Given the description of an element on the screen output the (x, y) to click on. 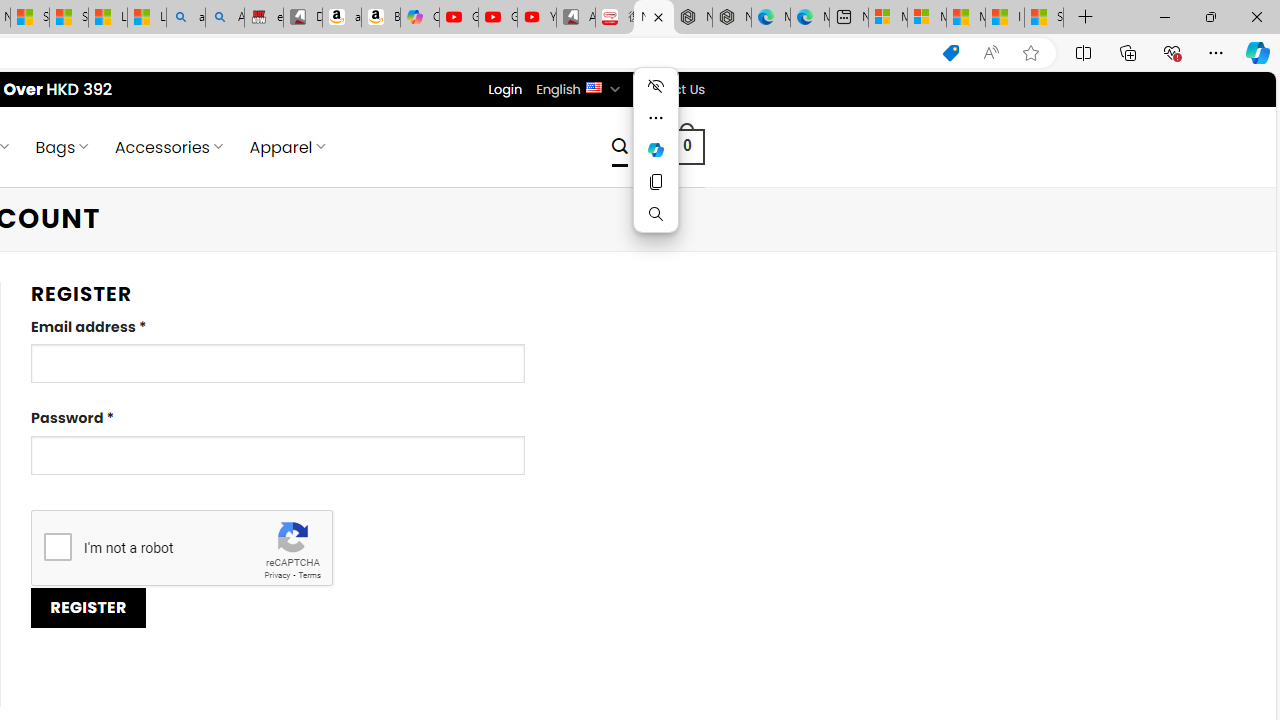
I Gained 20 Pounds of Muscle in 30 Days! | Watch (1004, 17)
Close (1256, 16)
Hide menu (655, 85)
